Given the description of an element on the screen output the (x, y) to click on. 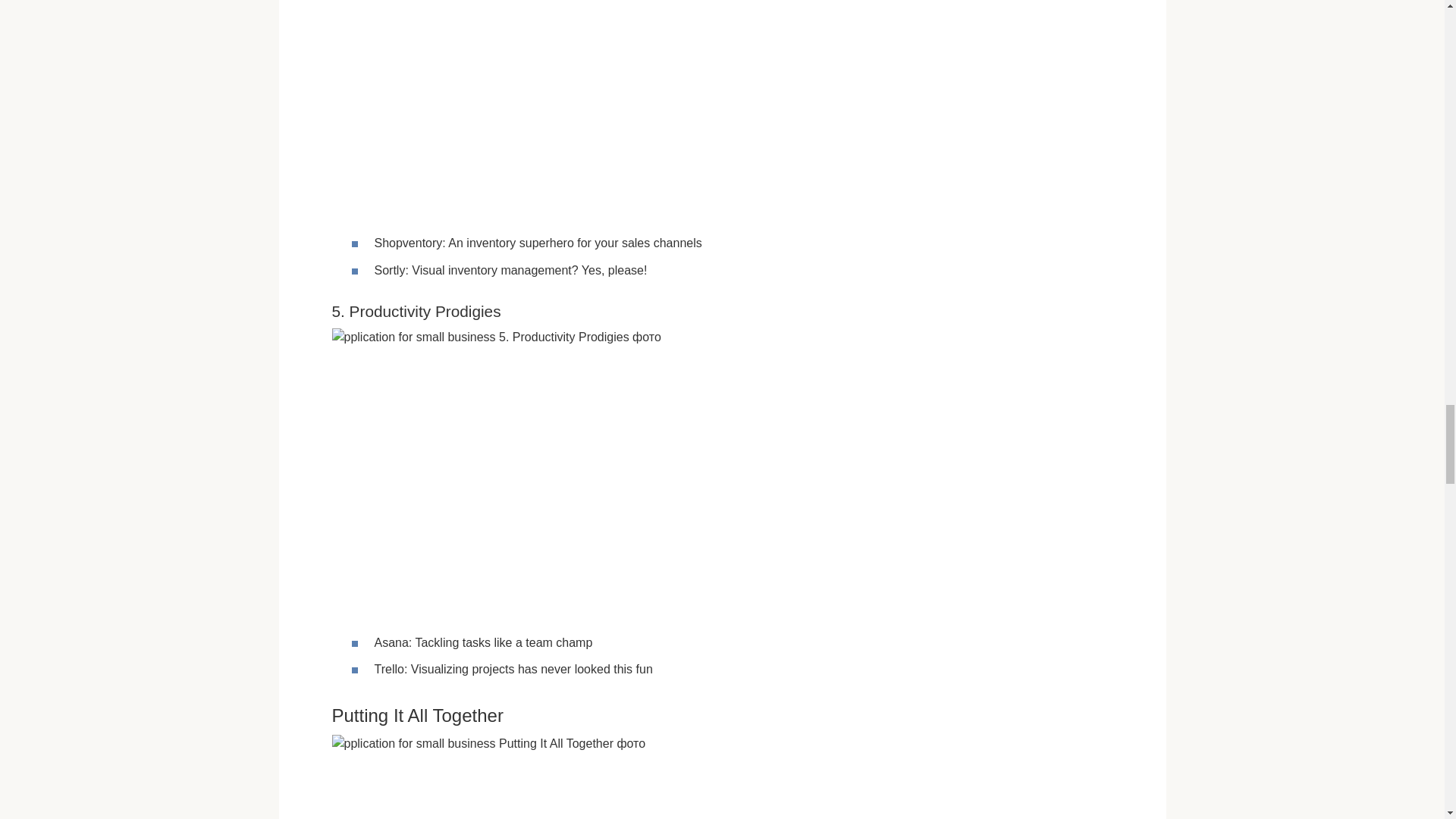
pplication for small business 4. Inventory Wizards (585, 106)
pplication for small business Putting It All Together (585, 776)
